Given the description of an element on the screen output the (x, y) to click on. 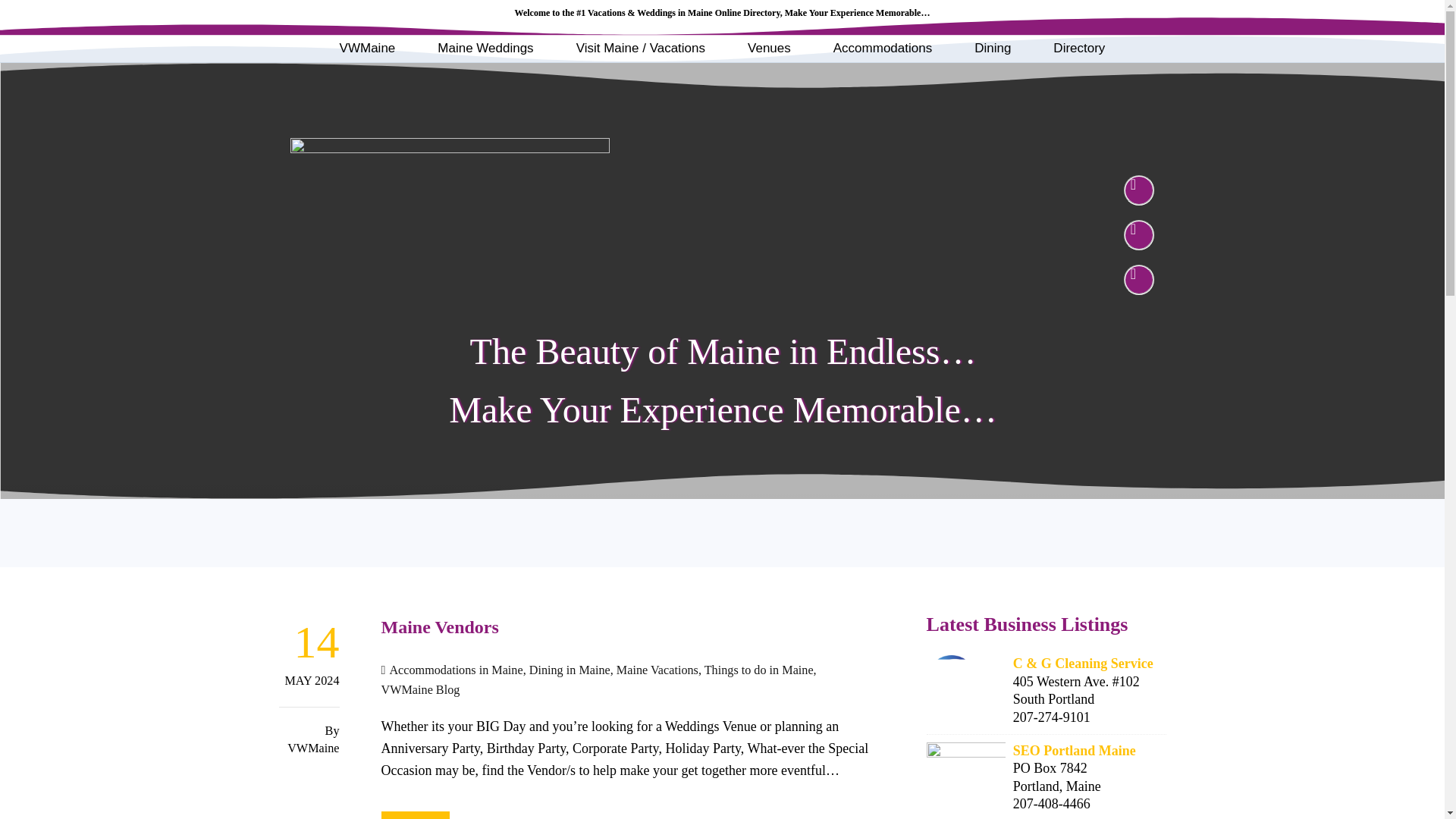
Directory (1078, 48)
Dining (992, 48)
Accommodations (882, 48)
Venues (769, 48)
Maine Weddings (485, 48)
VWMaine (367, 48)
